Given the description of an element on the screen output the (x, y) to click on. 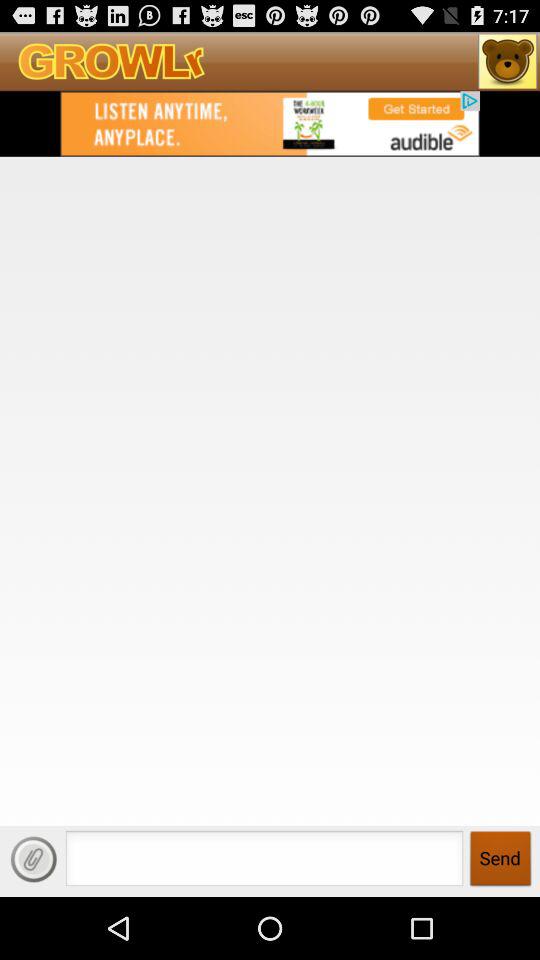
gay community (270, 123)
